Given the description of an element on the screen output the (x, y) to click on. 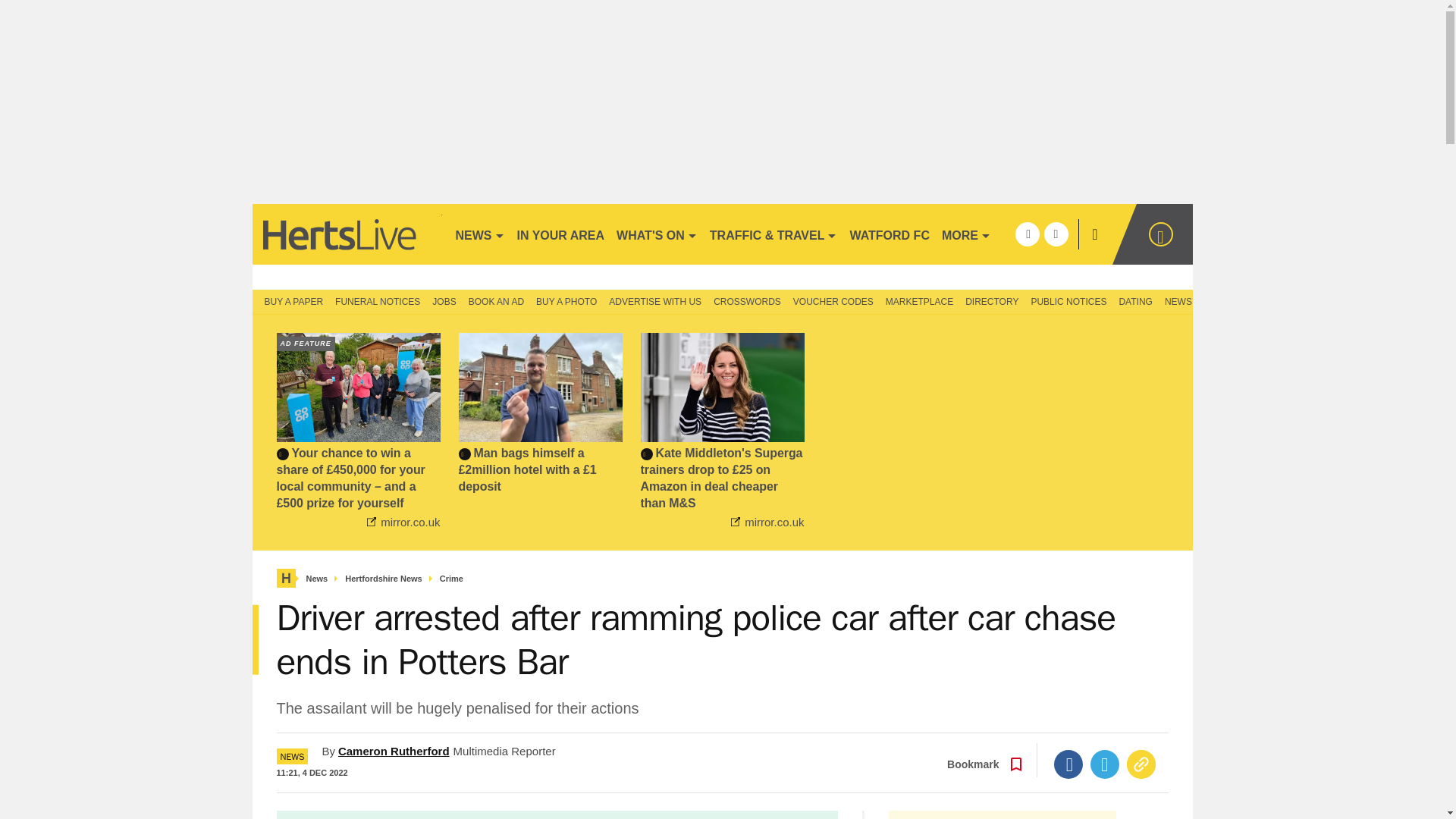
facebook (1026, 233)
IN YOUR AREA (561, 233)
twitter (1055, 233)
hertfordshiremercury (346, 233)
Twitter (1104, 764)
WATFORD FC (888, 233)
MORE (966, 233)
Facebook (1068, 764)
WHAT'S ON (656, 233)
NEWS (479, 233)
